Given the description of an element on the screen output the (x, y) to click on. 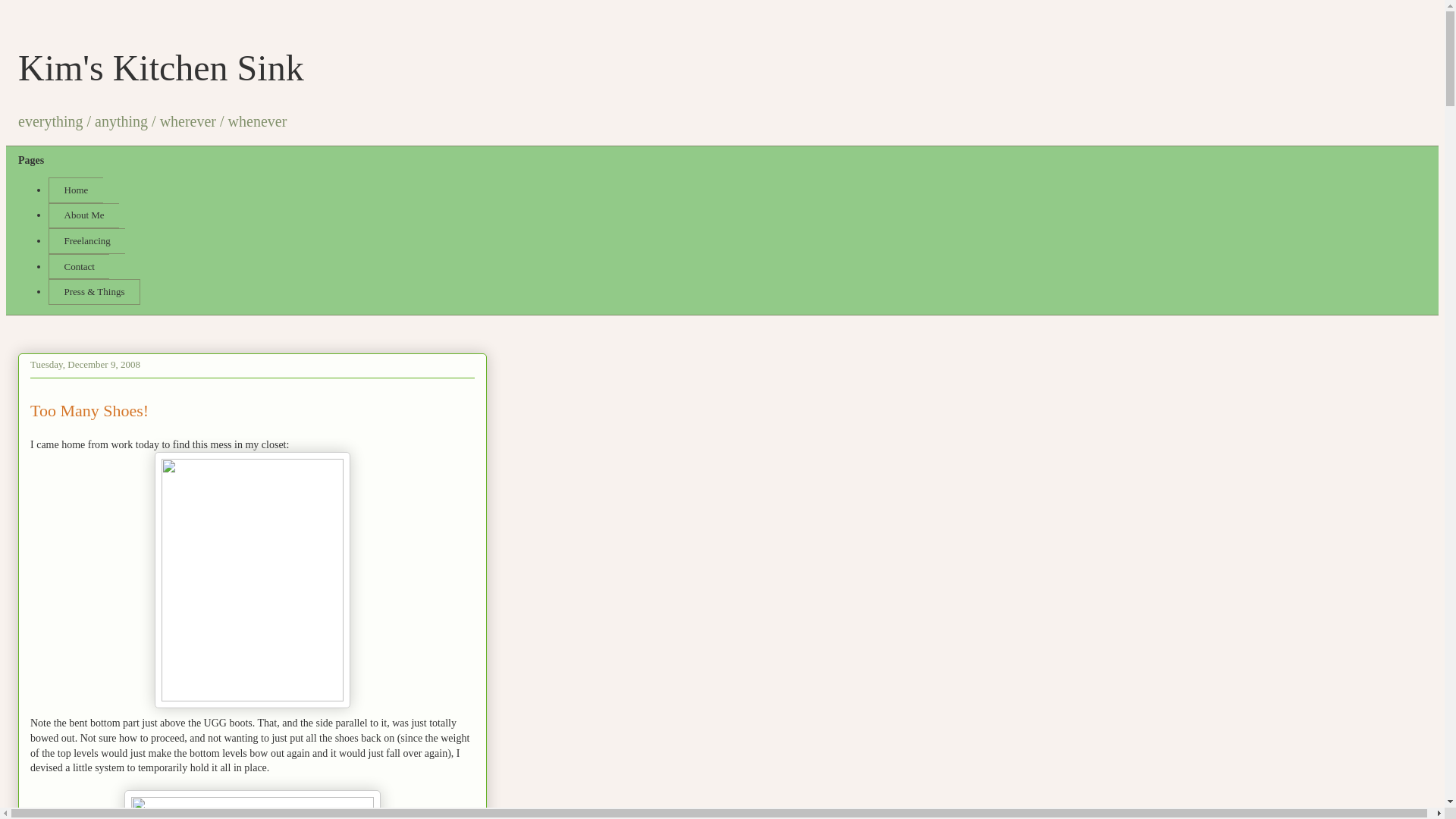
Kim's Kitchen Sink (160, 67)
About Me (83, 216)
Home (75, 190)
Freelancing (86, 240)
Contact (78, 266)
